Given the description of an element on the screen output the (x, y) to click on. 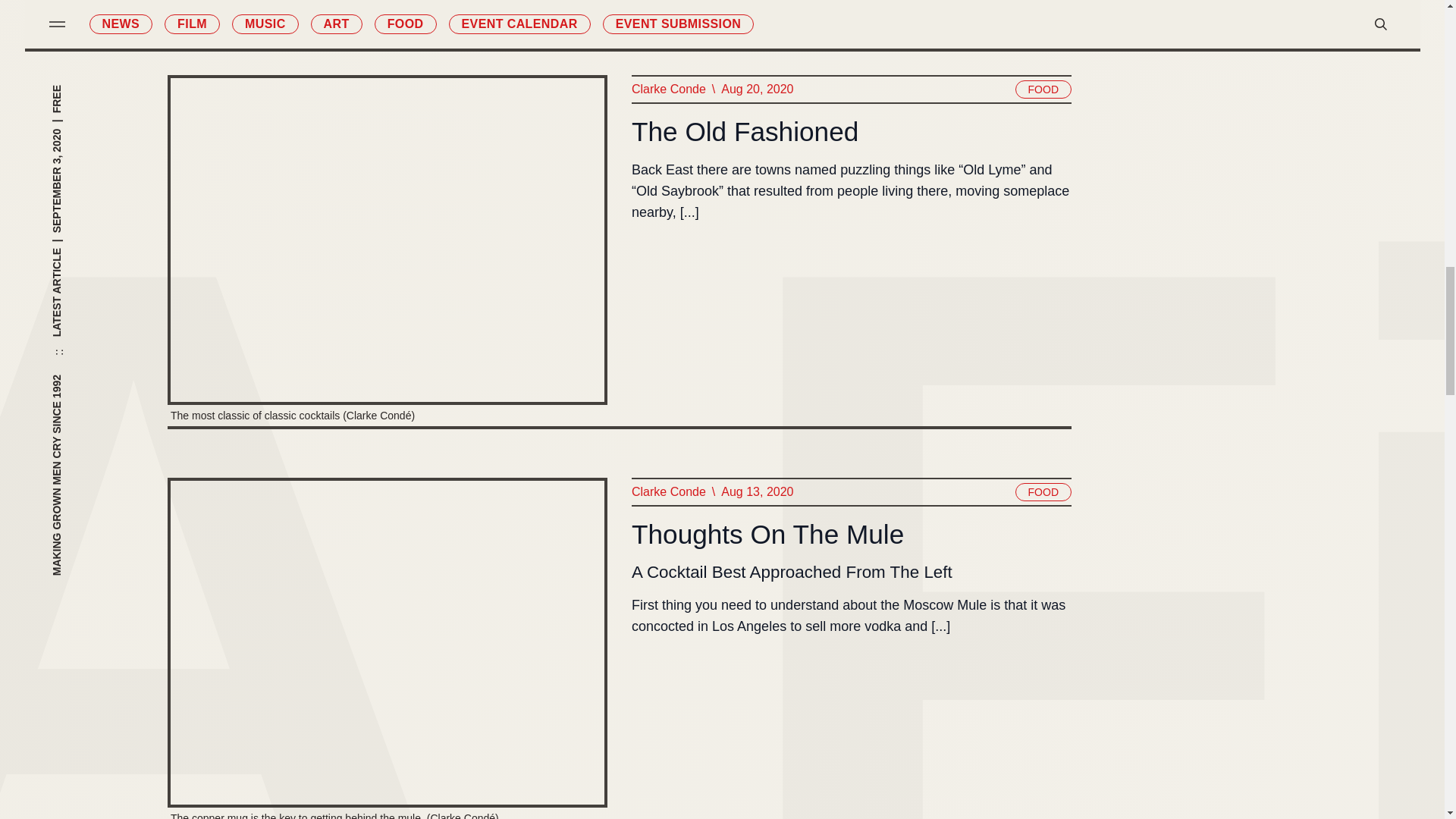
FOOD (1042, 492)
Clarke Conde (667, 88)
Clarke Conde (667, 491)
FOOD (1042, 89)
